Given the description of an element on the screen output the (x, y) to click on. 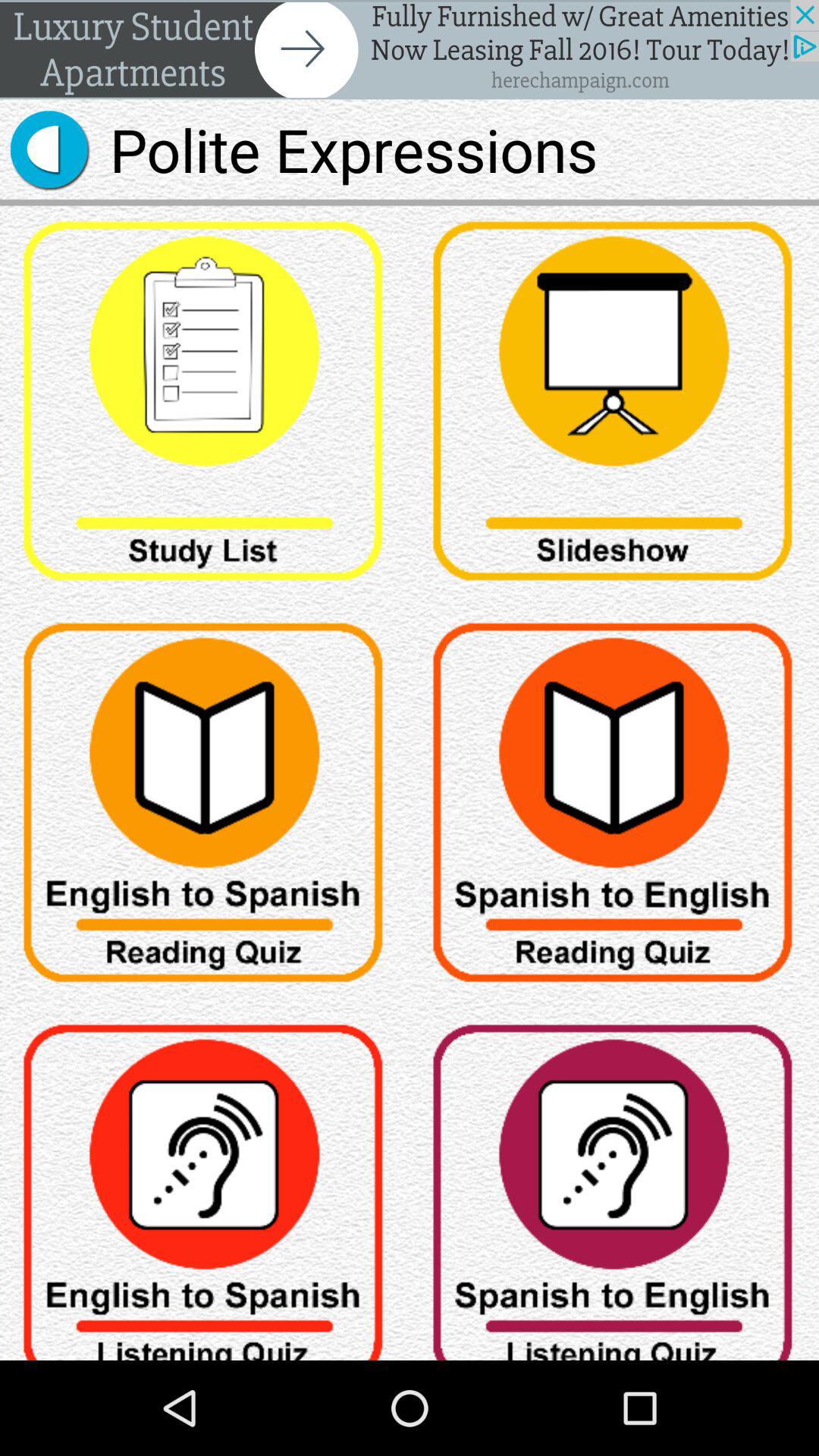
select one part (204, 807)
